Given the description of an element on the screen output the (x, y) to click on. 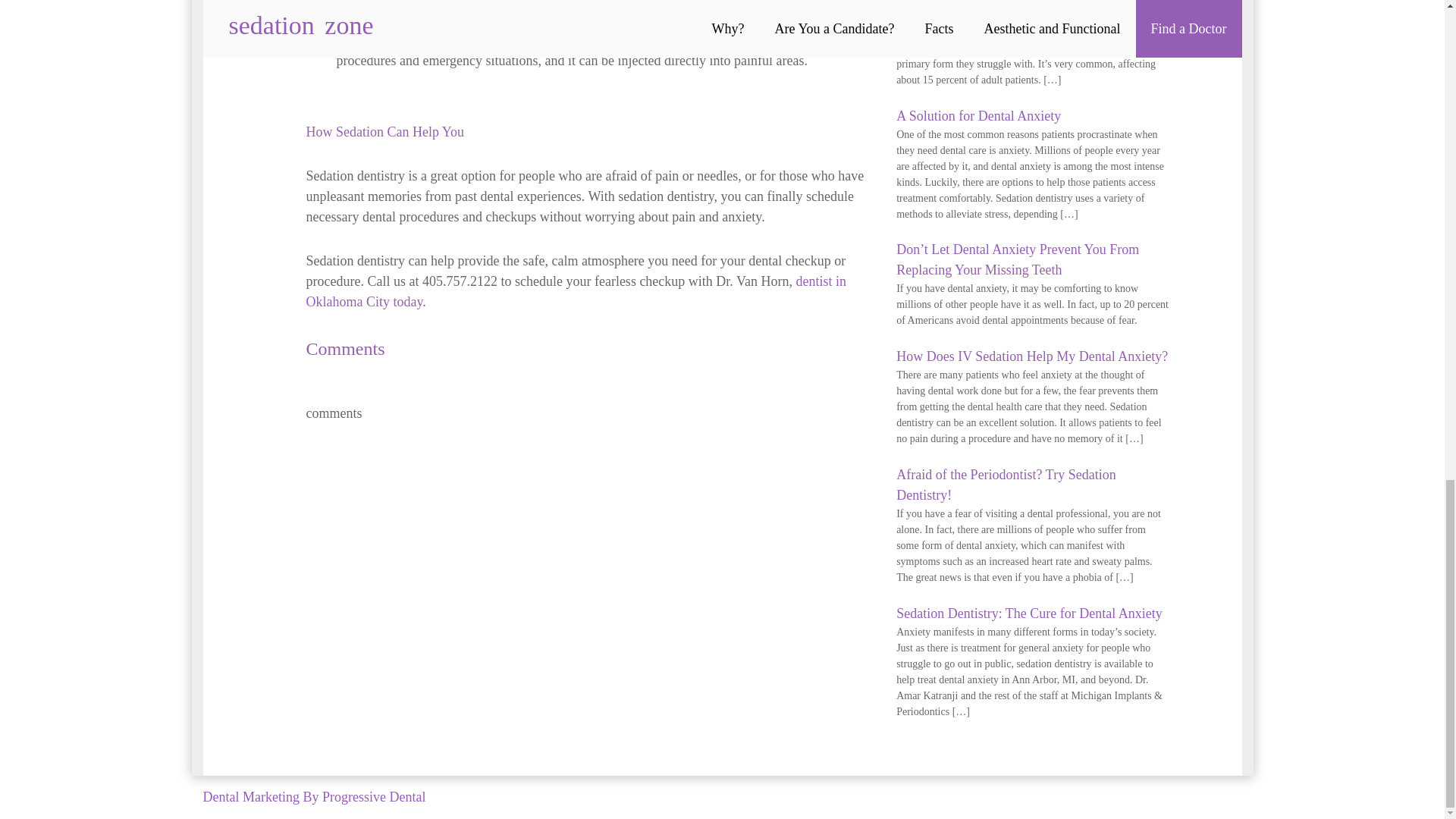
Sedation Dentistry: The Cure for Dental Anxiety (1028, 613)
How Does IV Sedation Help My Dental Anxiety? (1031, 355)
dentist in Oklahoma City today (576, 291)
Dental Marketing By Progressive Dental (314, 796)
Afraid of the Periodontist? Try Sedation Dentistry! (1005, 484)
A Solution for Dental Anxiety (978, 115)
